Given the description of an element on the screen output the (x, y) to click on. 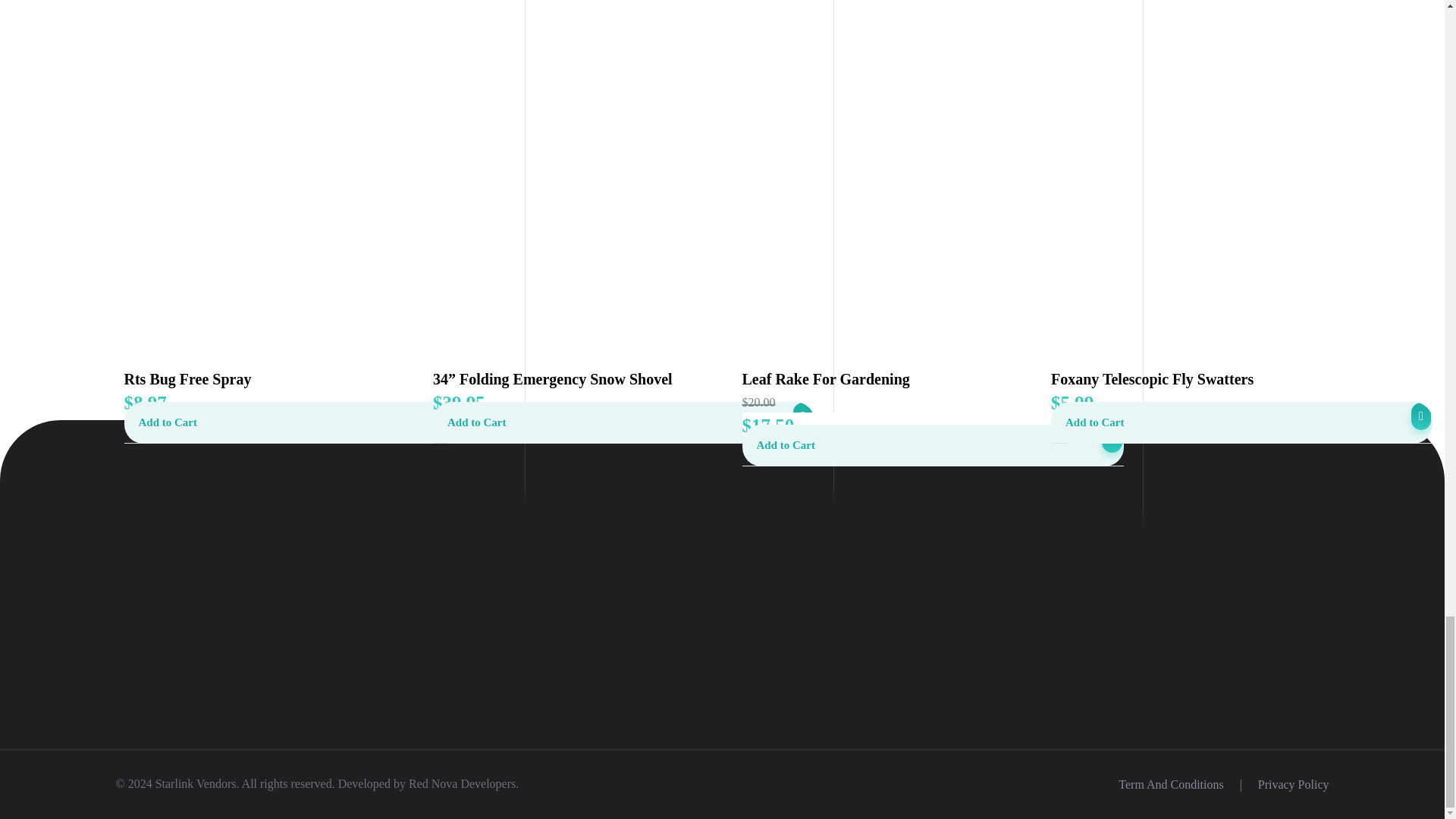
Rts Bug Free Spray (314, 378)
Add to Cart (314, 422)
Leaf Rake For Gardening (931, 378)
Add to Cart (622, 422)
